Given the description of an element on the screen output the (x, y) to click on. 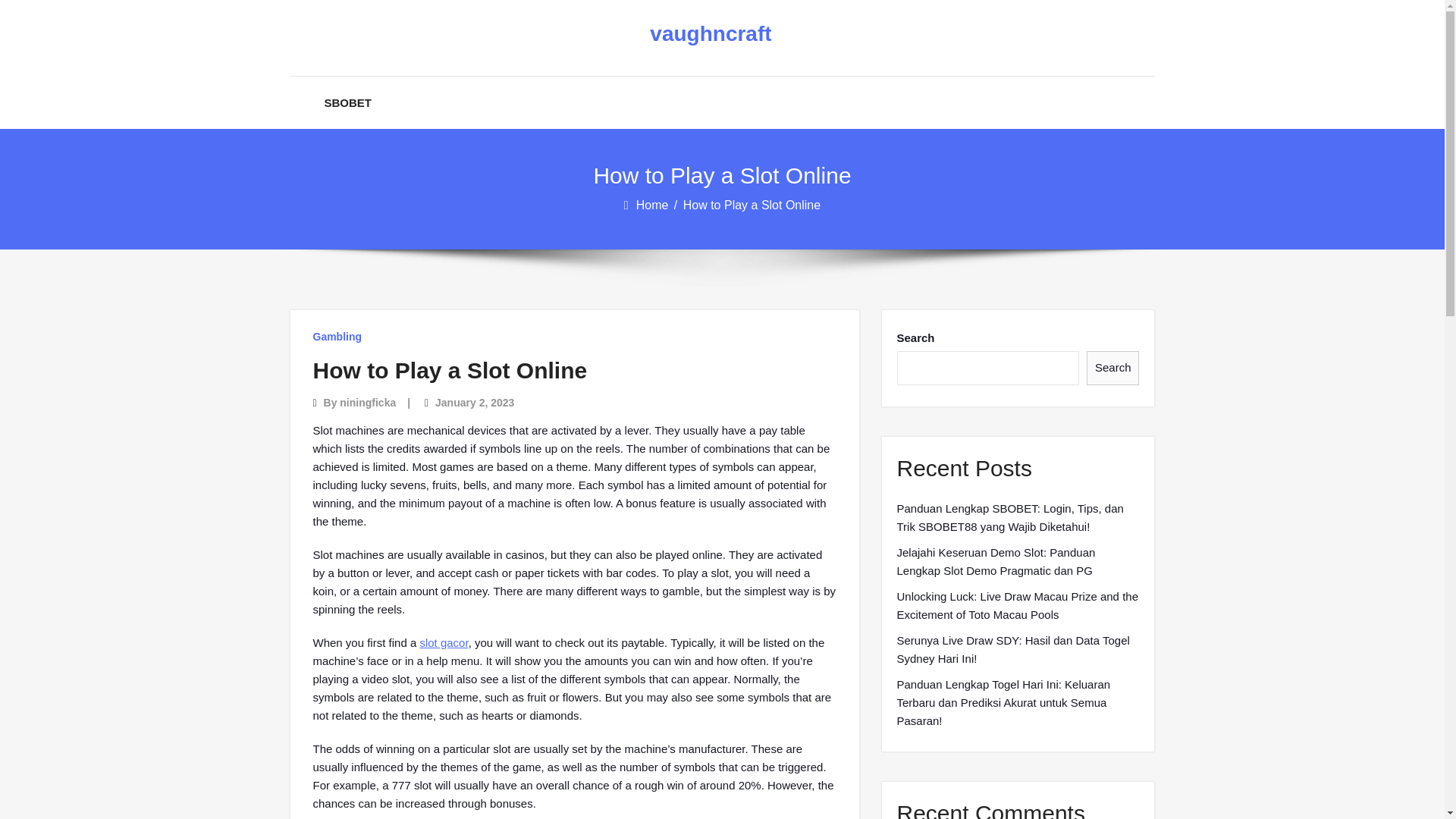
Serunya Live Draw SDY: Hasil dan Data Togel Sydney Hari Ini! (1017, 649)
Search (1113, 367)
Gambling (337, 336)
niningficka (367, 402)
vaughncraft (710, 34)
Home (653, 205)
slot gacor (443, 642)
